Given the description of an element on the screen output the (x, y) to click on. 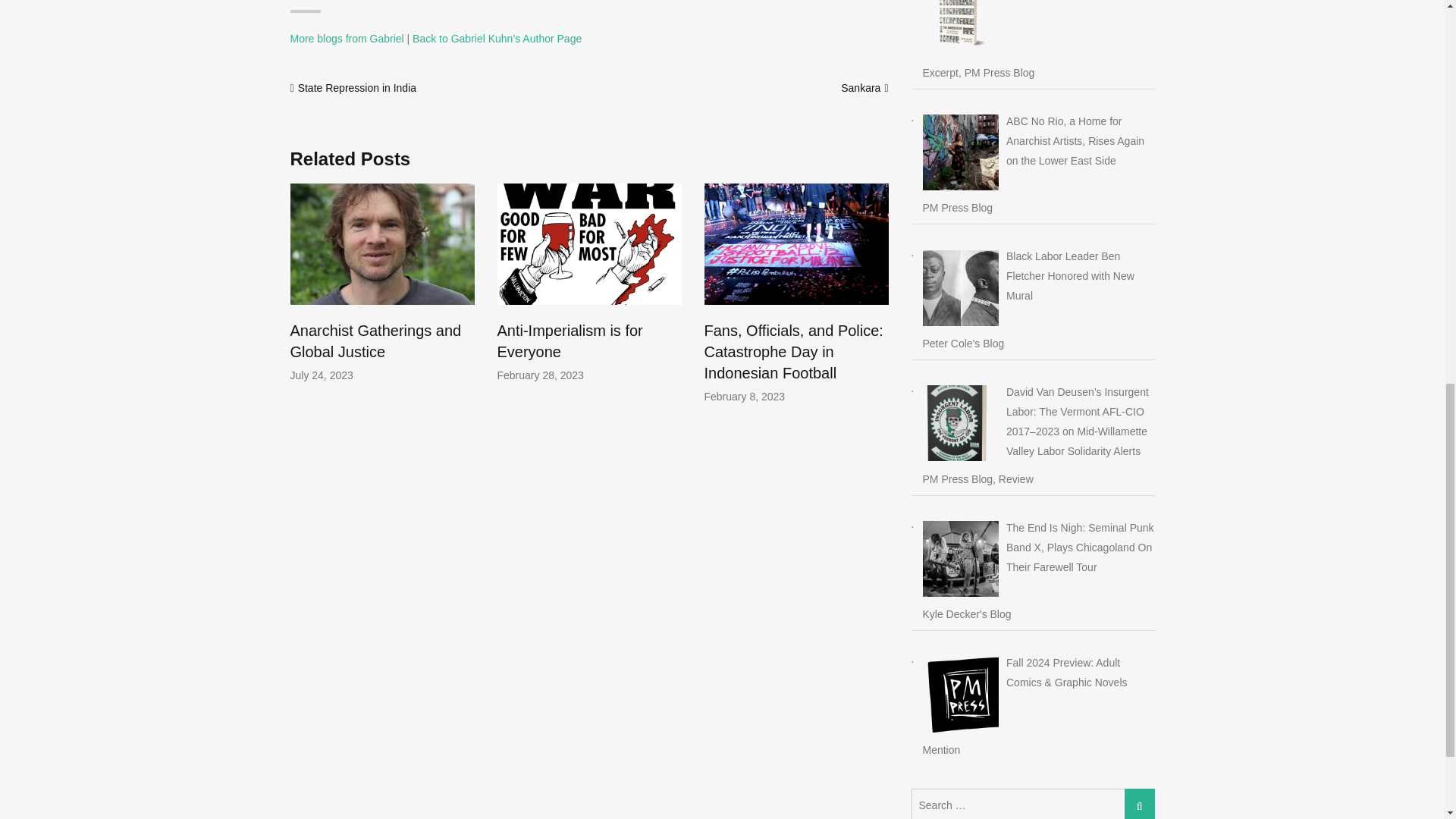
State Repression in India (357, 87)
Anarchist Gatherings and Global Justice (375, 341)
Anti-Imperialism is for Everyone (570, 341)
Sankara (860, 87)
More blogs from Gabriel (346, 38)
